Given the description of an element on the screen output the (x, y) to click on. 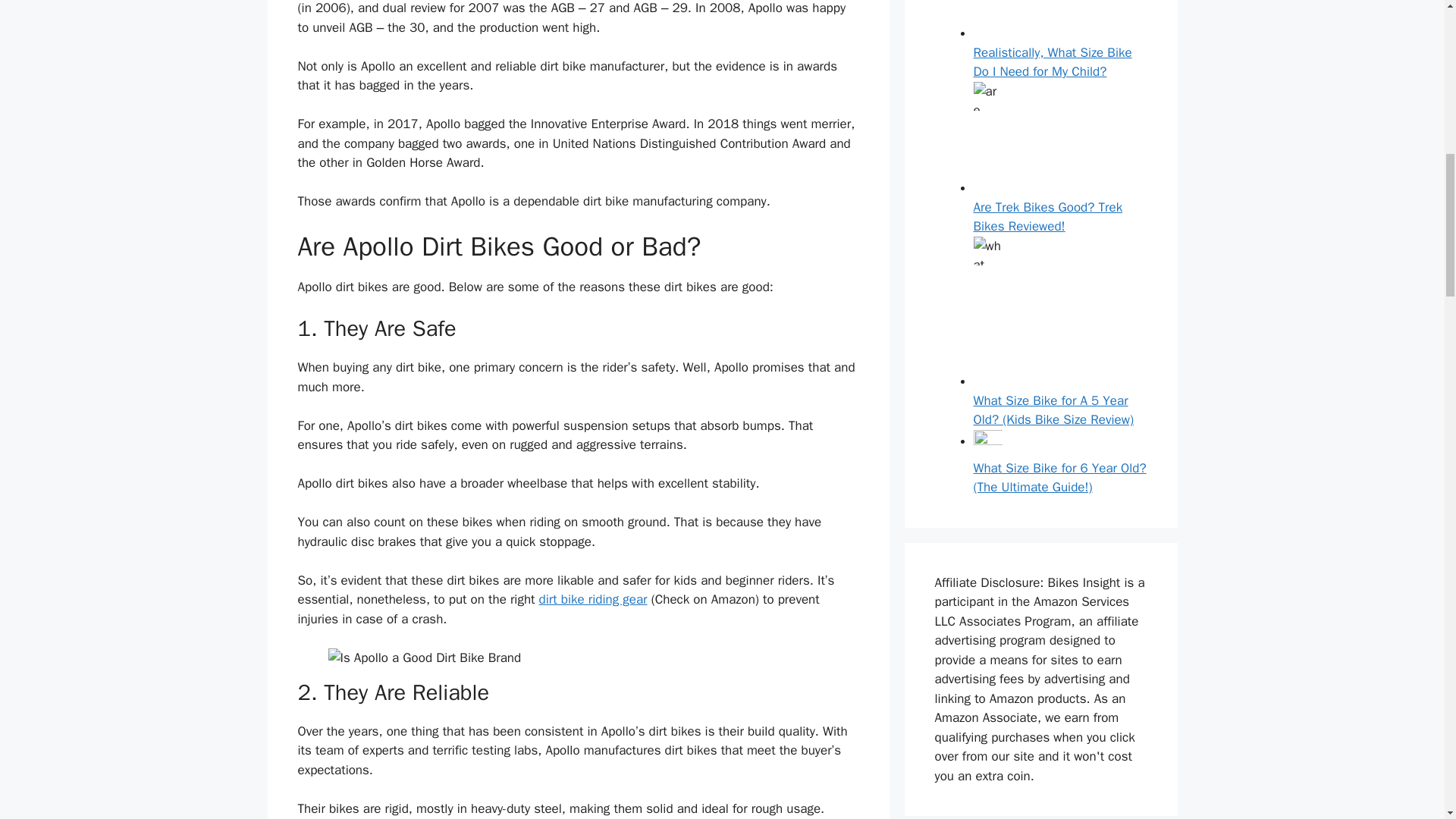
Are Trek Bikes Good? Trek Bikes Reviewed! (1048, 217)
Realistically, What Size Bike Do I Need for My Child? (1053, 62)
dirt bike riding gear (592, 599)
